Given the description of an element on the screen output the (x, y) to click on. 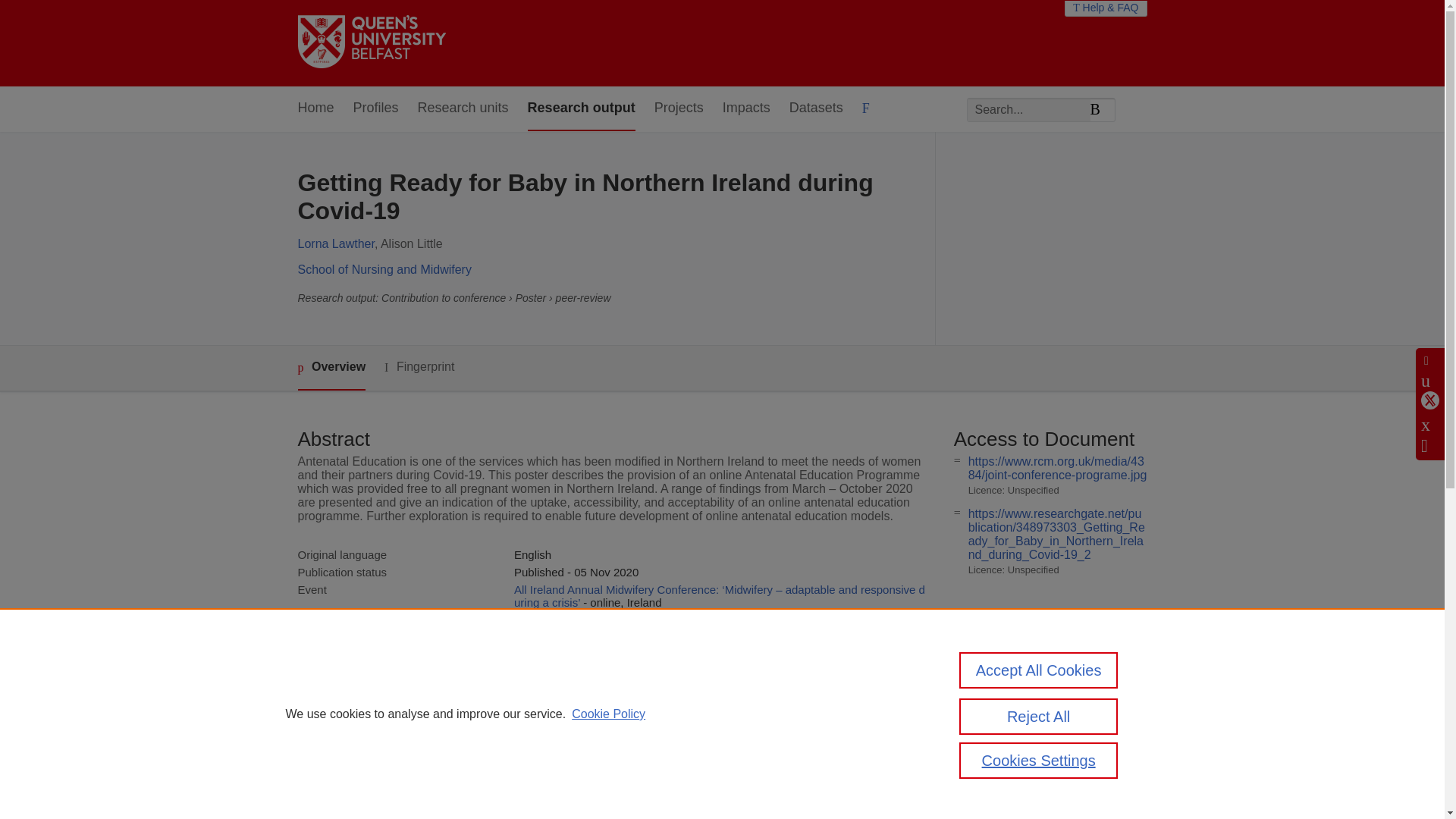
Research units (462, 108)
Queen's University Belfast Home (371, 43)
Overview (331, 367)
Lorna Lawther (335, 243)
Datasets (816, 108)
Projects (678, 108)
Impacts (746, 108)
School of Nursing and Midwifery (383, 269)
Fingerprint (419, 367)
